Given the description of an element on the screen output the (x, y) to click on. 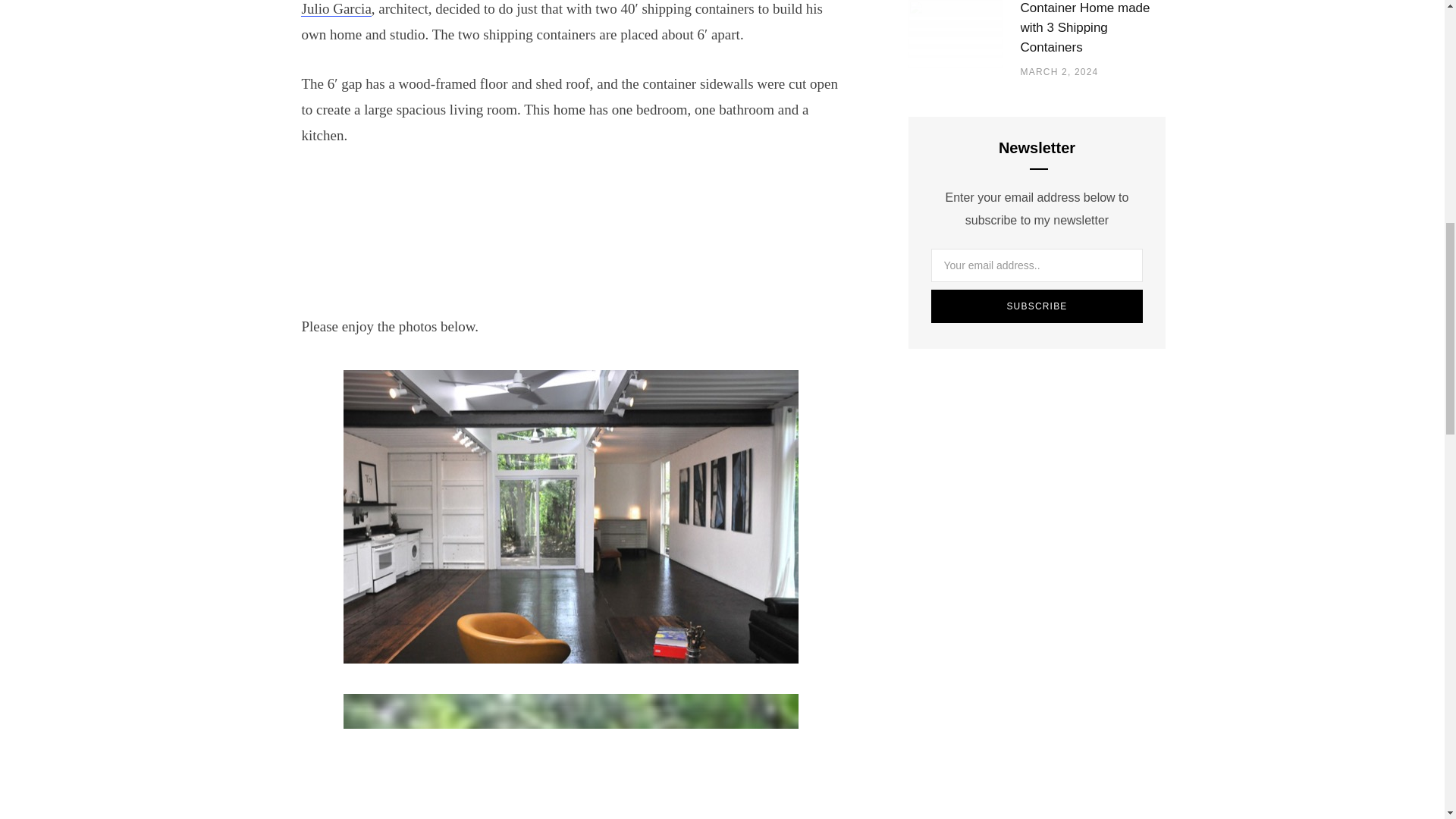
Subscribe (1036, 305)
Julio Garcia (336, 8)
Container Home made with 3 Shipping Containers (1093, 28)
